Given the description of an element on the screen output the (x, y) to click on. 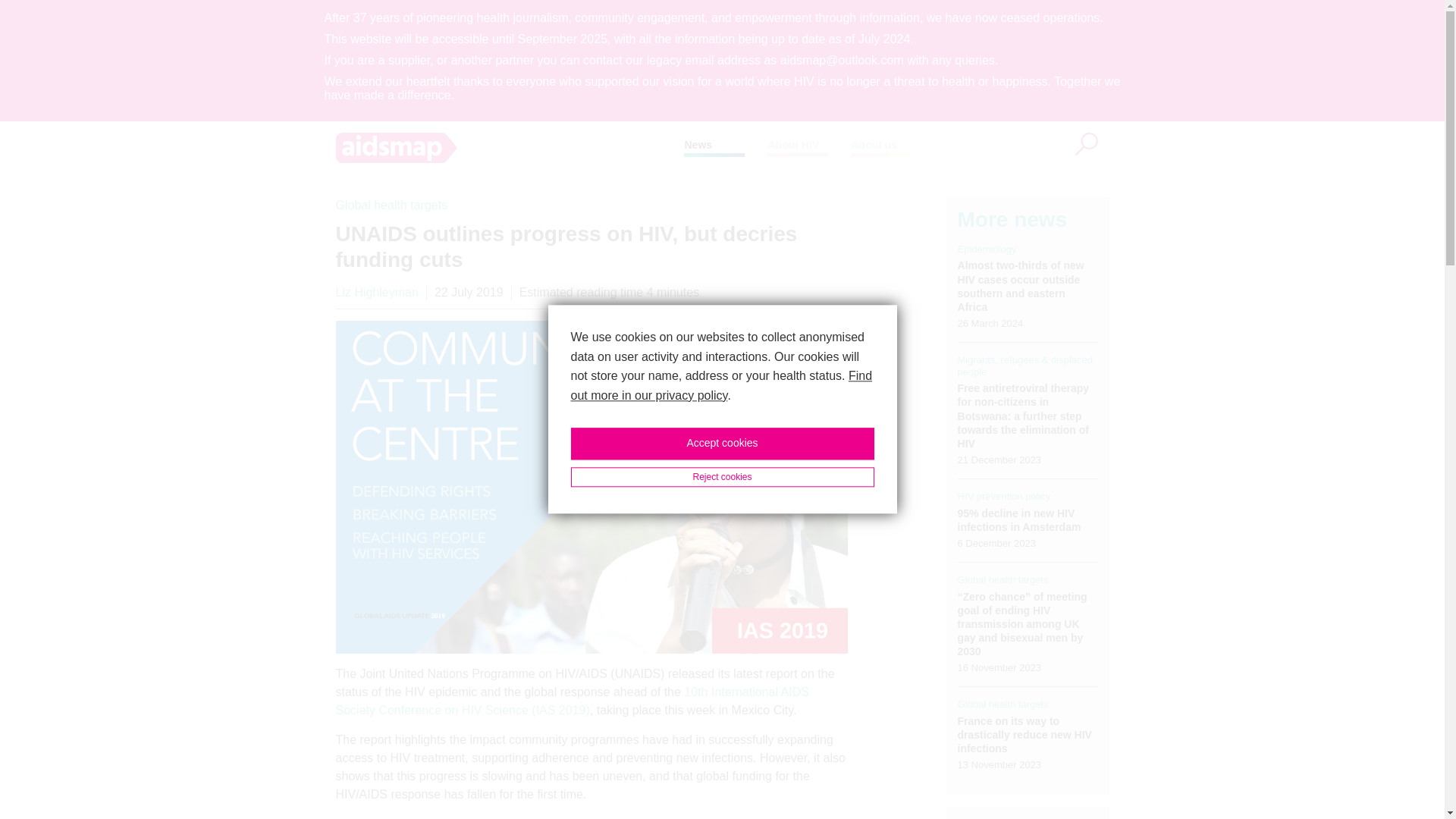
Global health targets (390, 205)
Home (509, 147)
News (697, 144)
HIV prevention policy (1004, 496)
Epidemiology (987, 248)
About HIV (792, 144)
About us (873, 144)
Liz Highleyman (375, 291)
